Given the description of an element on the screen output the (x, y) to click on. 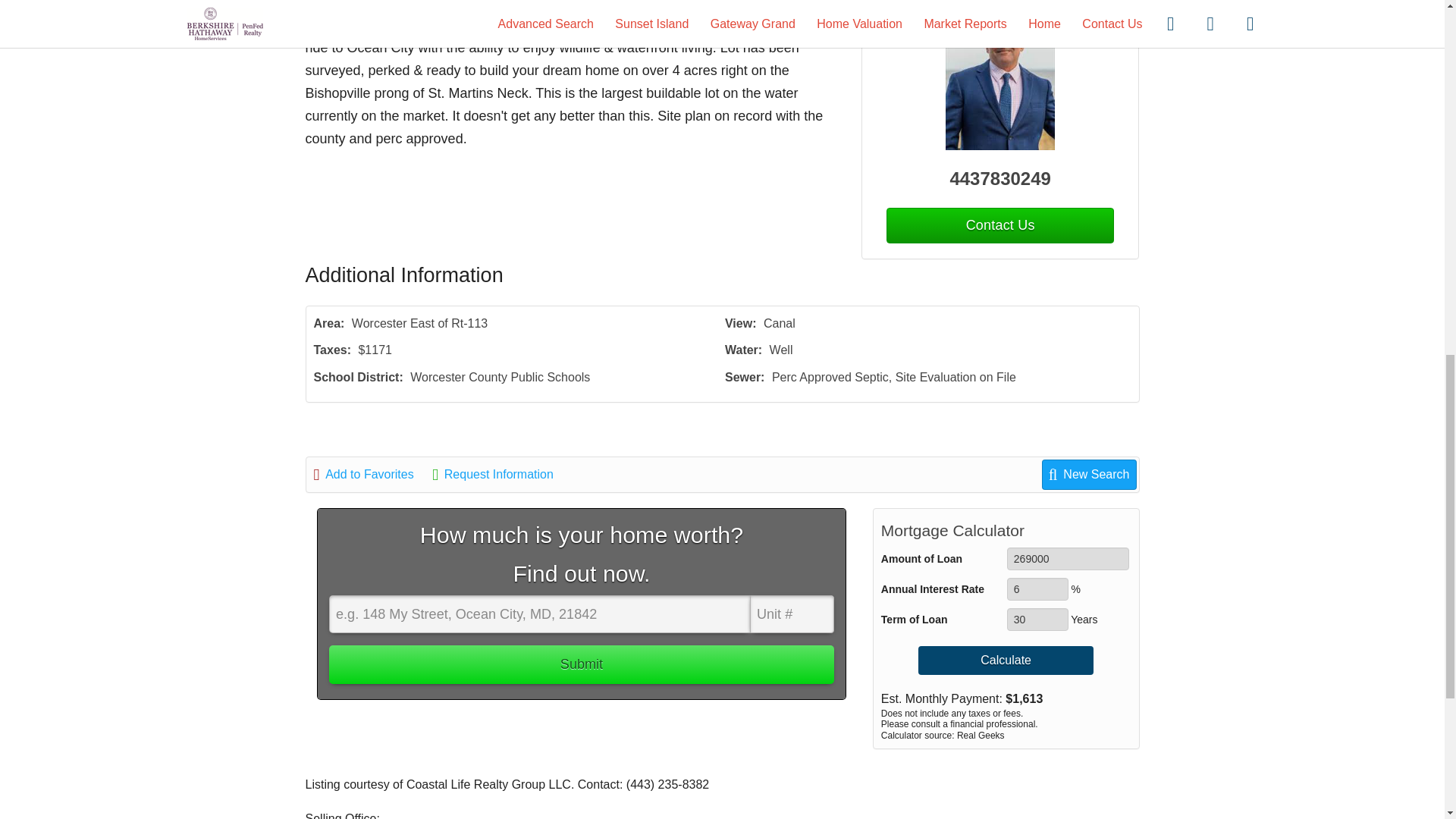
4437830249 (1000, 178)
Contact Us (999, 225)
6 (1037, 589)
269000 (1068, 558)
30 (1037, 619)
